Given the description of an element on the screen output the (x, y) to click on. 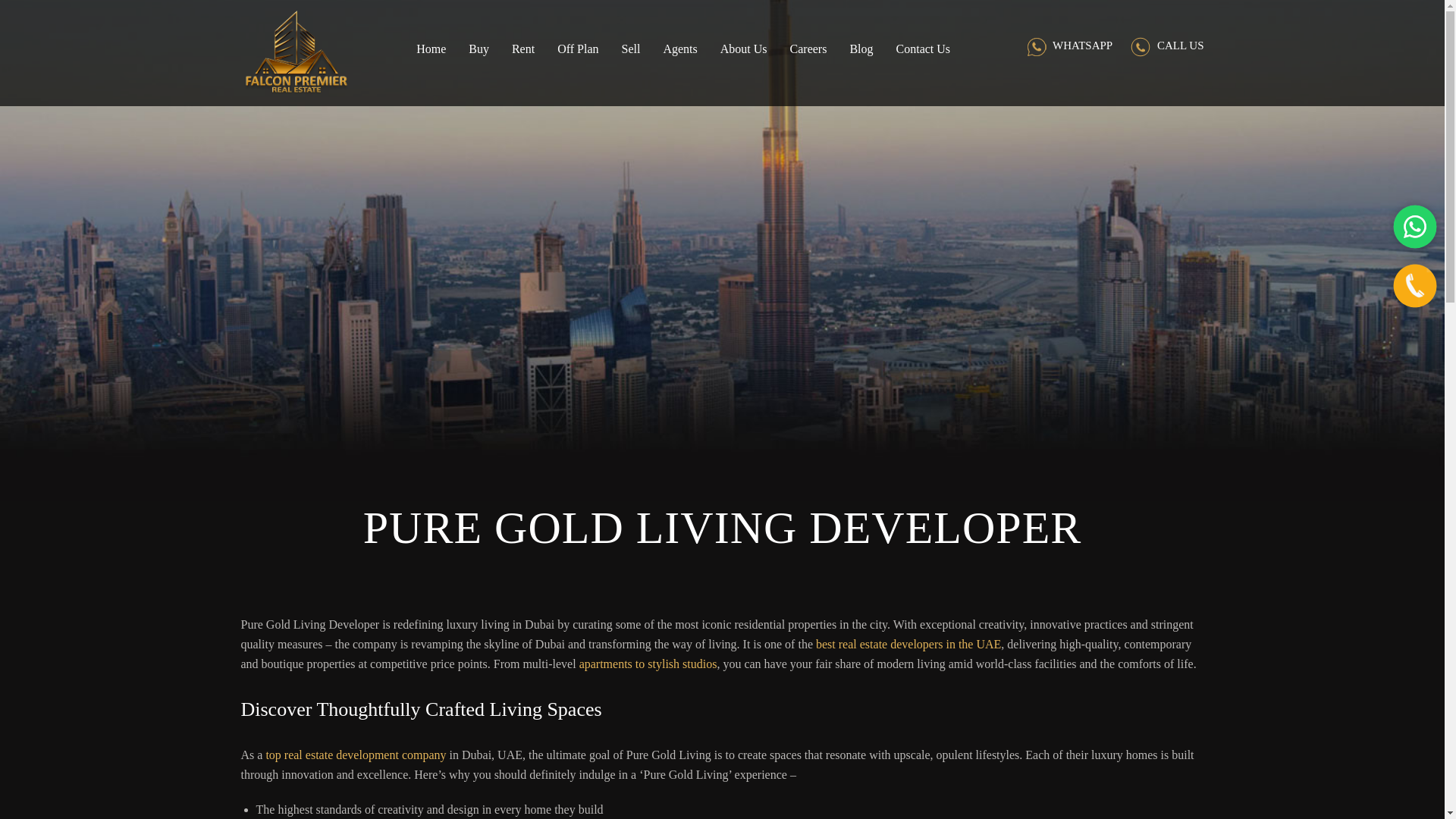
Contact Us (923, 71)
WHATSAPP (1069, 45)
WhatsApp (1415, 226)
CALL US (1167, 45)
Call Us (1415, 285)
